Given the description of an element on the screen output the (x, y) to click on. 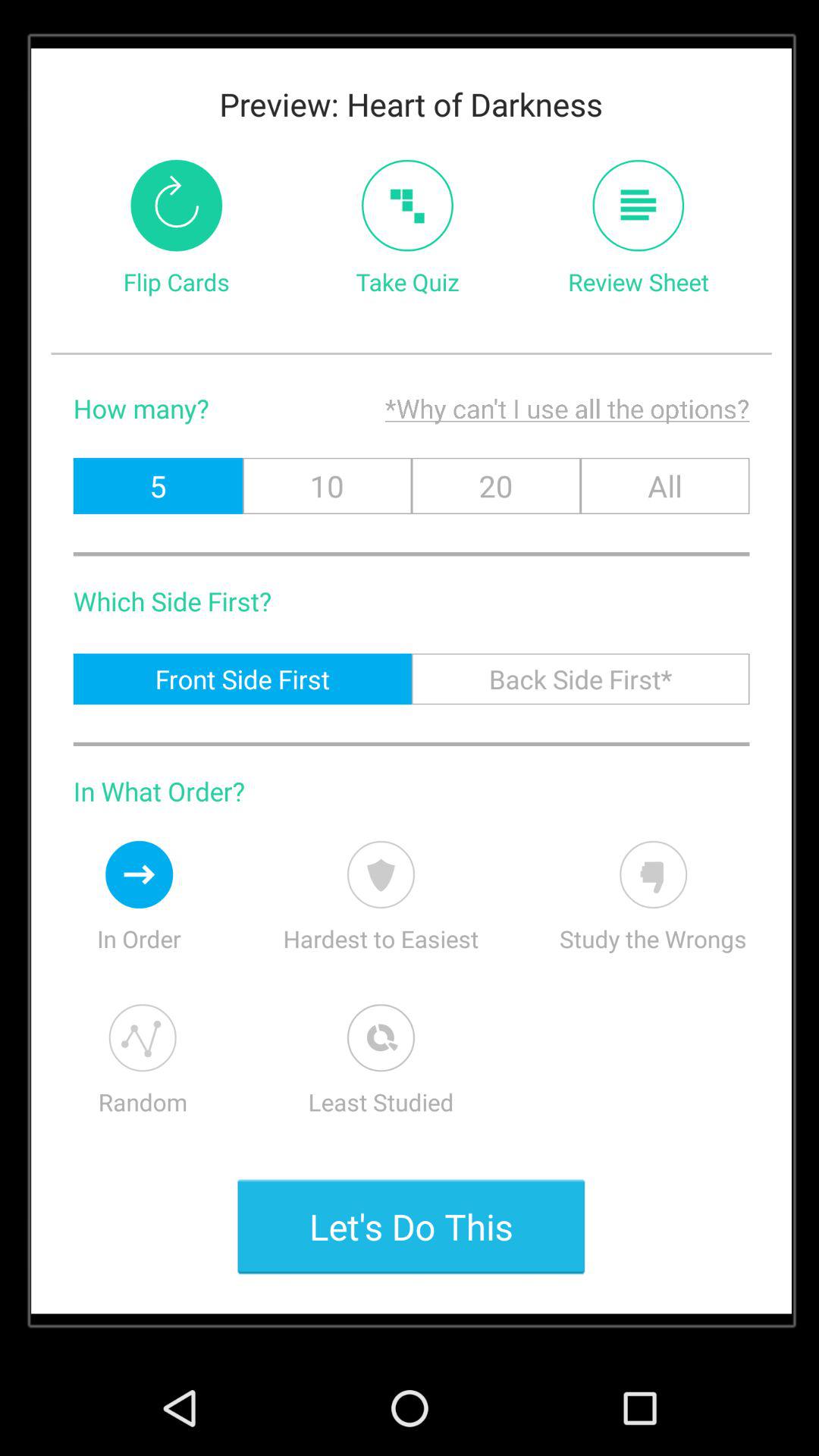
sort hardest to easiest (380, 874)
